Given the description of an element on the screen output the (x, y) to click on. 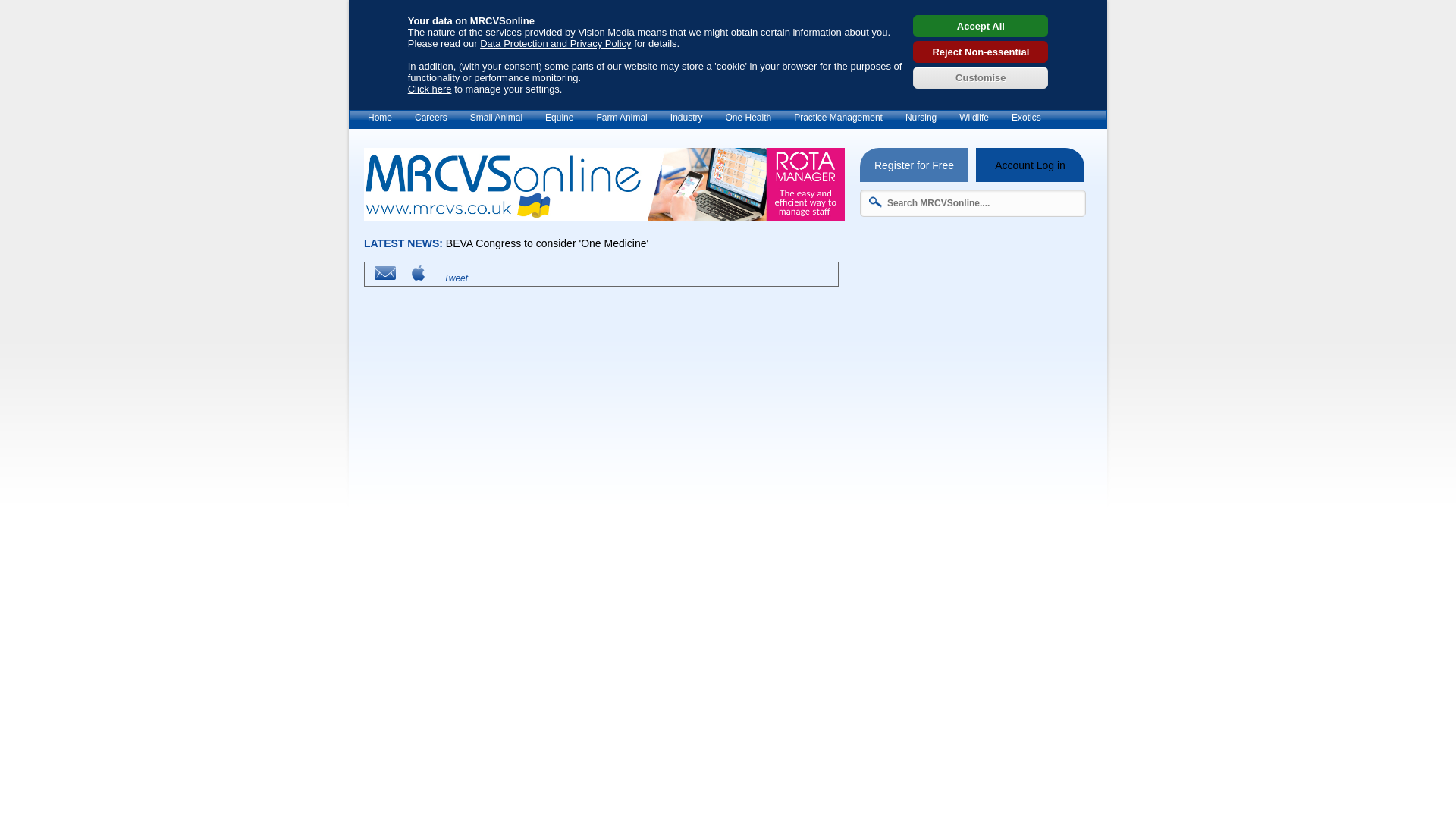
Wildlife (973, 118)
Farm Animal (621, 118)
login to MRCVSonline (1029, 164)
Tweet (454, 277)
Accept All (980, 25)
Nursing (920, 118)
Exotics (1026, 118)
Practice Management (838, 118)
Register for Free (914, 164)
Customise (980, 77)
